Given the description of an element on the screen output the (x, y) to click on. 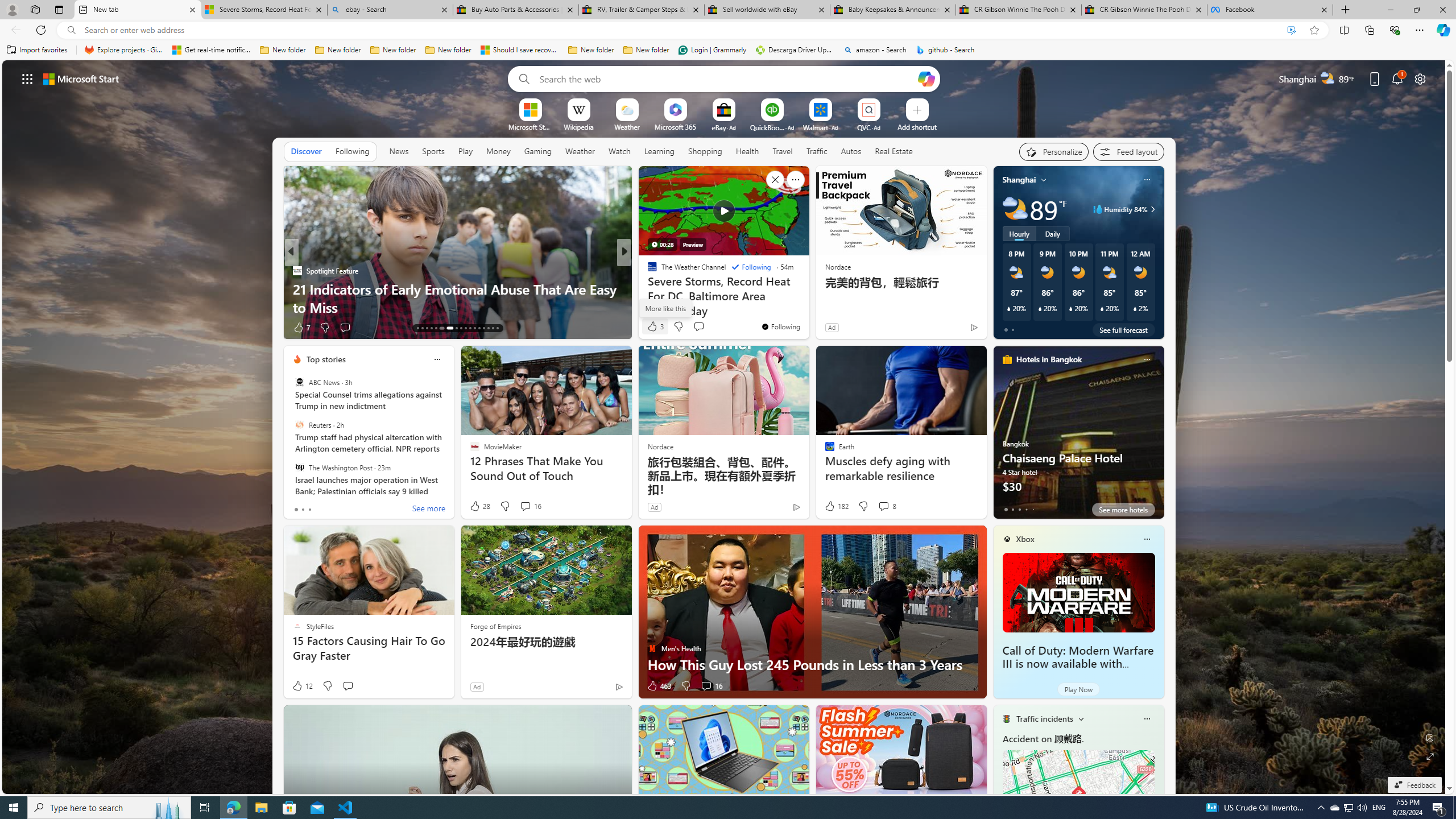
AutomationID: tab-13 (417, 328)
AutomationID: tab-21 (460, 328)
13 Like (652, 327)
AutomationID: tab-20 (456, 328)
